Given the description of an element on the screen output the (x, y) to click on. 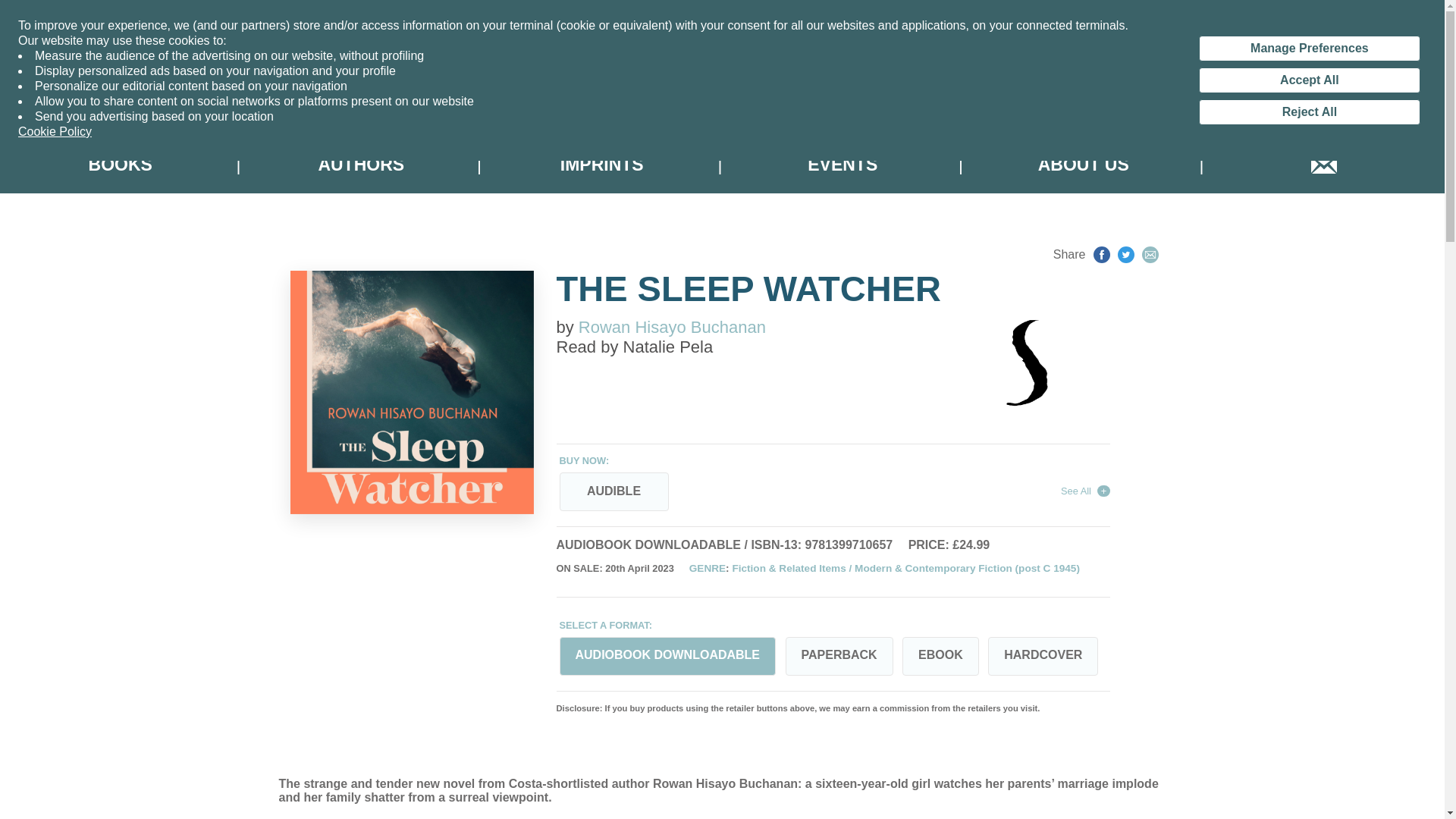
BOOKS (120, 164)
See All (1085, 491)
NEWSLETTER (1323, 164)
ABOUT US (1082, 164)
AUTHORS (360, 164)
EVENTS (842, 164)
IMPRINTS (601, 164)
AUDIBLE (613, 491)
Manage Preferences (1309, 48)
Cookie Policy (54, 131)
Rowan Hisayo Buchanan (671, 326)
Reject All (1309, 112)
ebook (940, 656)
Hardcover (1042, 656)
Accept All (1309, 80)
